Given the description of an element on the screen output the (x, y) to click on. 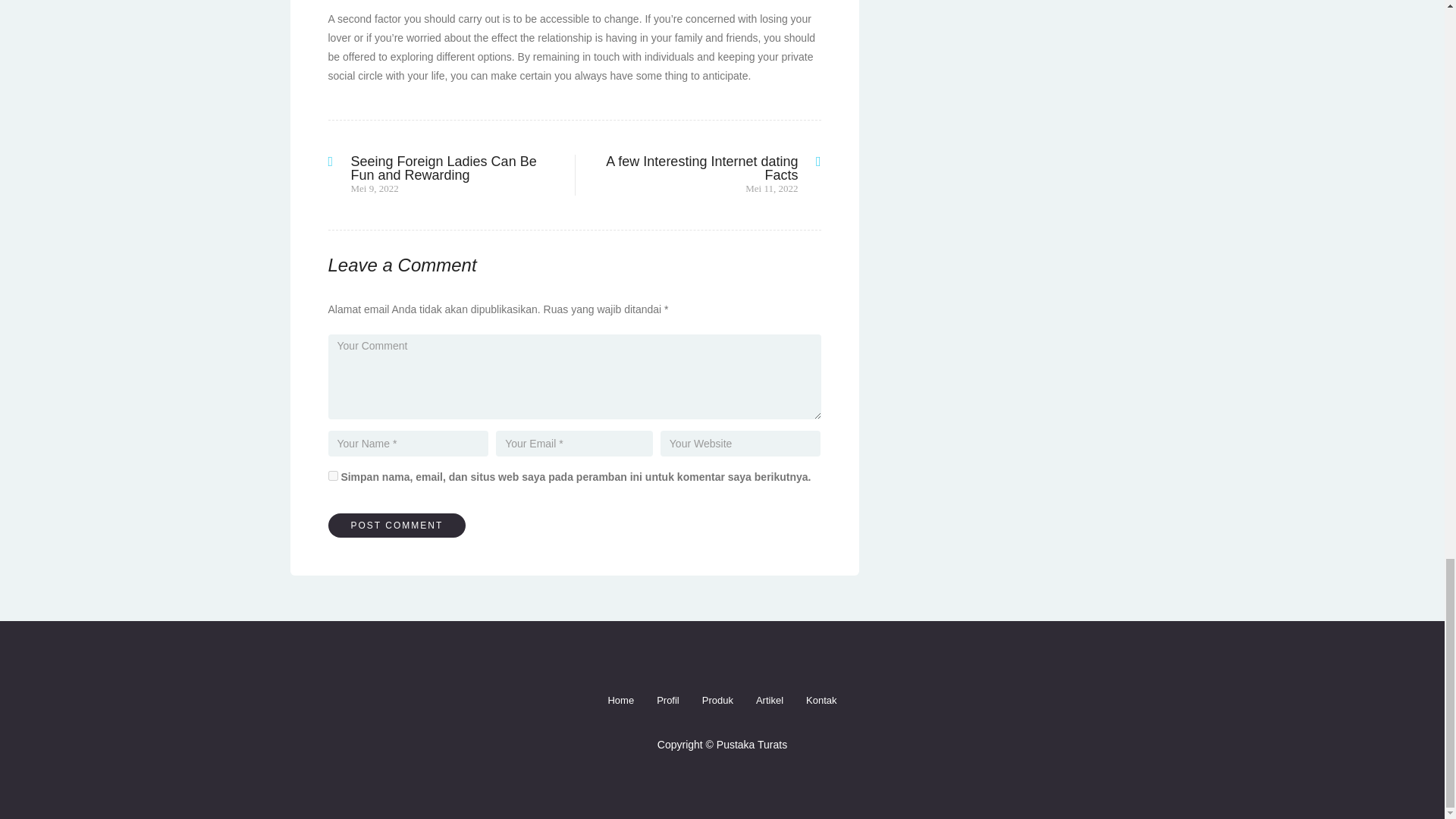
Post Comment (396, 525)
Profil (667, 700)
yes (332, 475)
Post Comment (396, 525)
Home (620, 700)
